Given the description of an element on the screen output the (x, y) to click on. 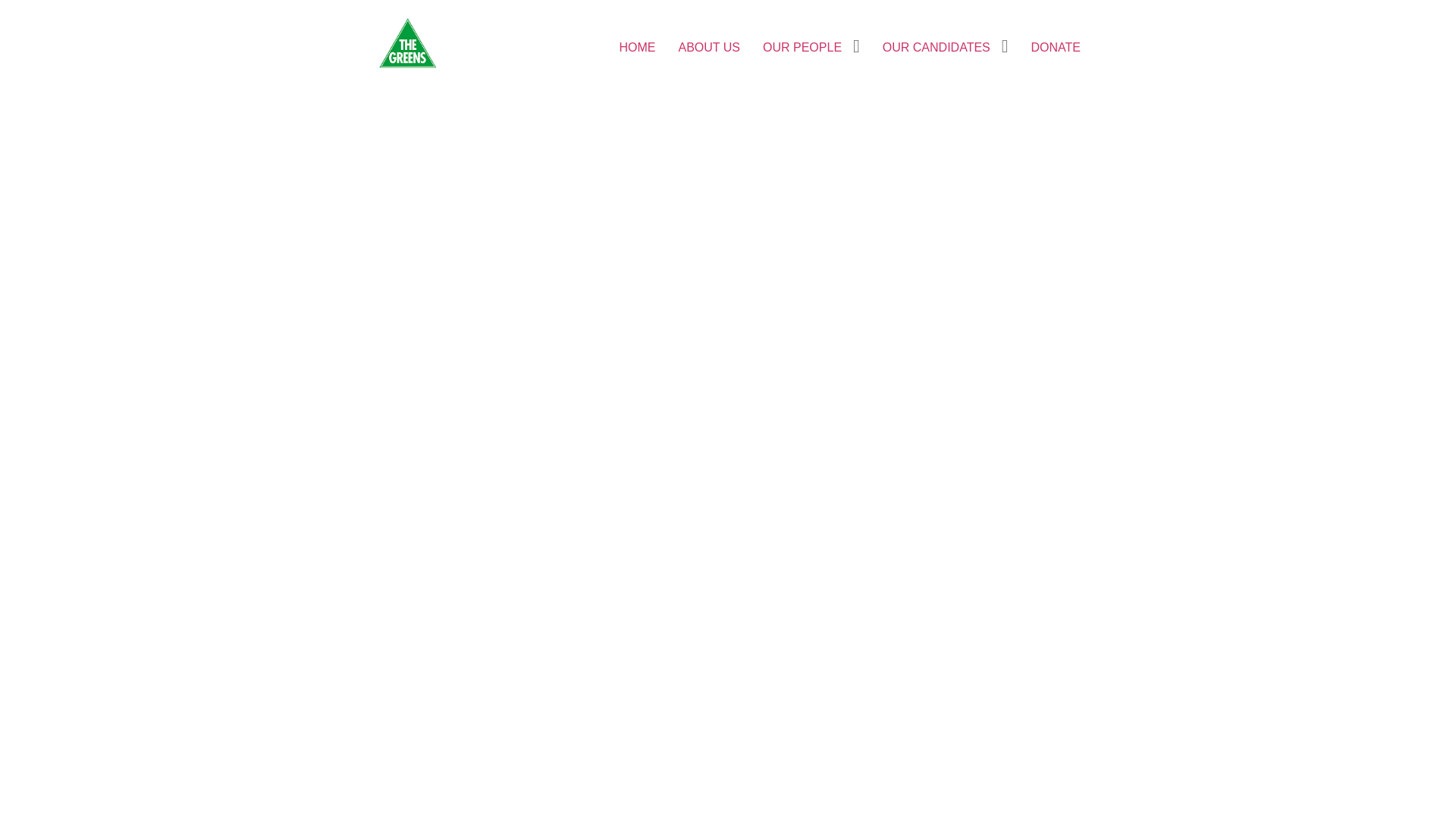
OUR PEOPLE Element type: text (802, 47)
DONATE Element type: text (1055, 47)
ABOUT US Element type: text (709, 47)
HOME Element type: text (637, 47)
OUR CANDIDATES Element type: text (936, 47)
